Given the description of an element on the screen output the (x, y) to click on. 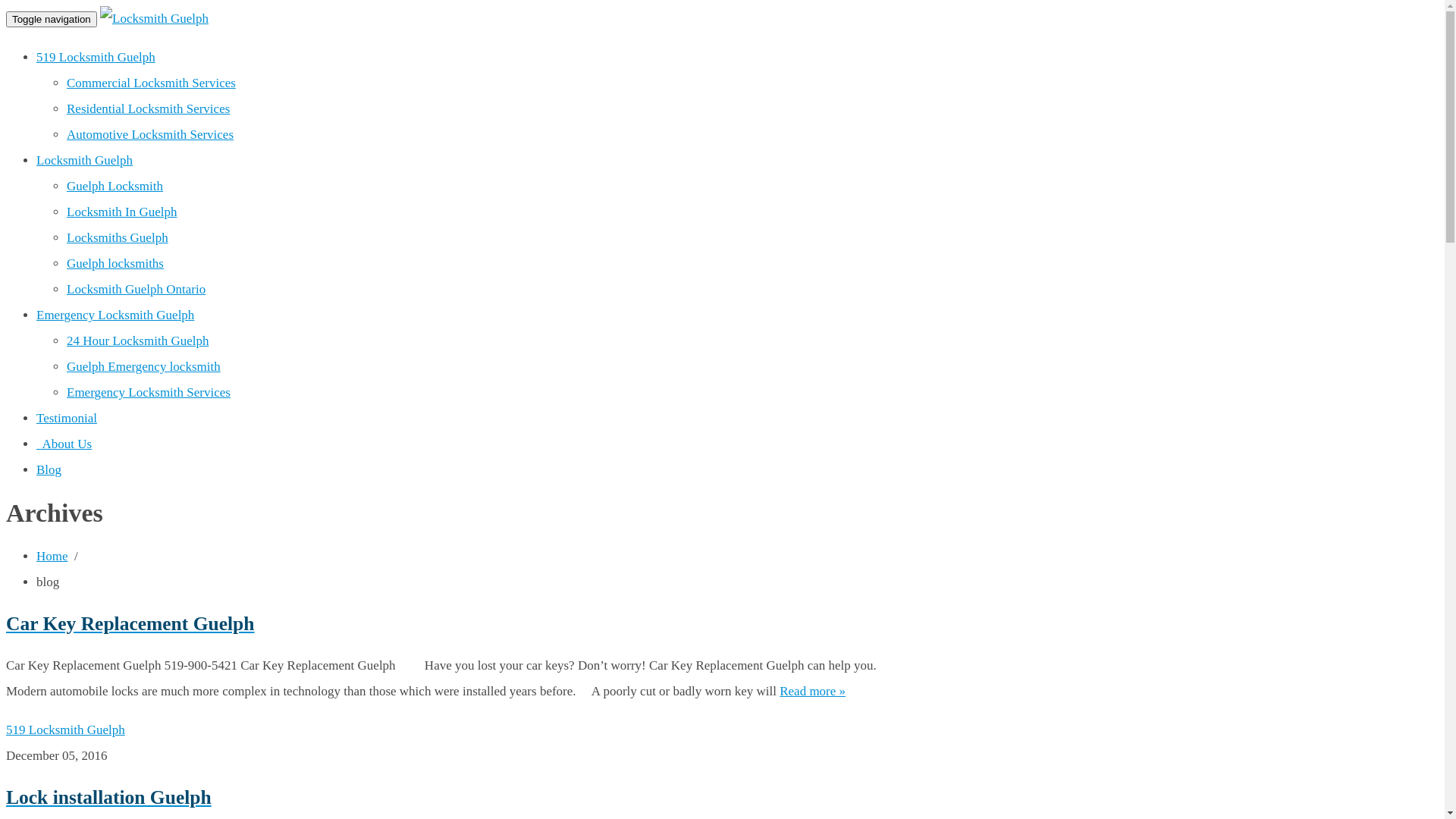
Locksmith Guelph Ontario Element type: text (135, 289)
24 Hour Locksmith Guelph Element type: text (137, 340)
Locksmiths Guelph Element type: text (117, 237)
Testimonial Element type: text (66, 418)
Lock installation Guelph Element type: text (449, 797)
519 Locksmith Guelph Element type: text (65, 729)
Locksmith Guelph Element type: text (84, 160)
Commercial Locksmith Services Element type: text (150, 82)
Emergency Locksmith Services Element type: text (148, 392)
Guelph Emergency locksmith Element type: text (143, 366)
Home Element type: text (52, 556)
Automotive Locksmith Services Element type: text (149, 134)
Car Key Replacement Guelph Element type: text (449, 624)
Guelph locksmiths Element type: text (114, 263)
  About Us Element type: text (63, 443)
Locksmith In Guelph Element type: text (121, 211)
Blog Element type: text (48, 469)
Toggle navigation Element type: text (51, 19)
Emergency Locksmith Guelph Element type: text (115, 314)
519 Locksmith Guelph Element type: text (95, 57)
Residential Locksmith Services Element type: text (147, 108)
Guelph Locksmith Element type: text (114, 185)
